Given the description of an element on the screen output the (x, y) to click on. 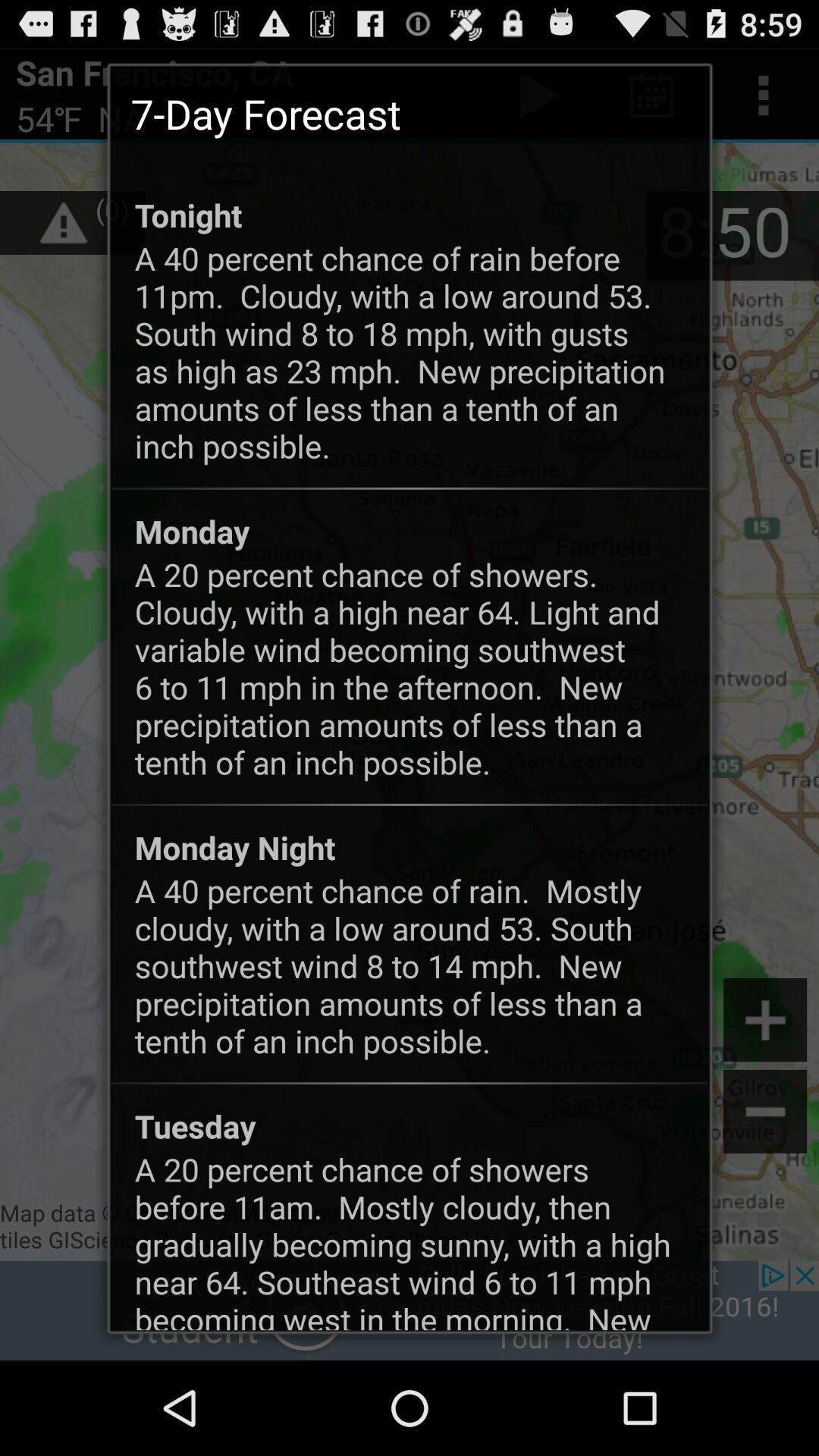
launch app below the a 20 percent (234, 847)
